Given the description of an element on the screen output the (x, y) to click on. 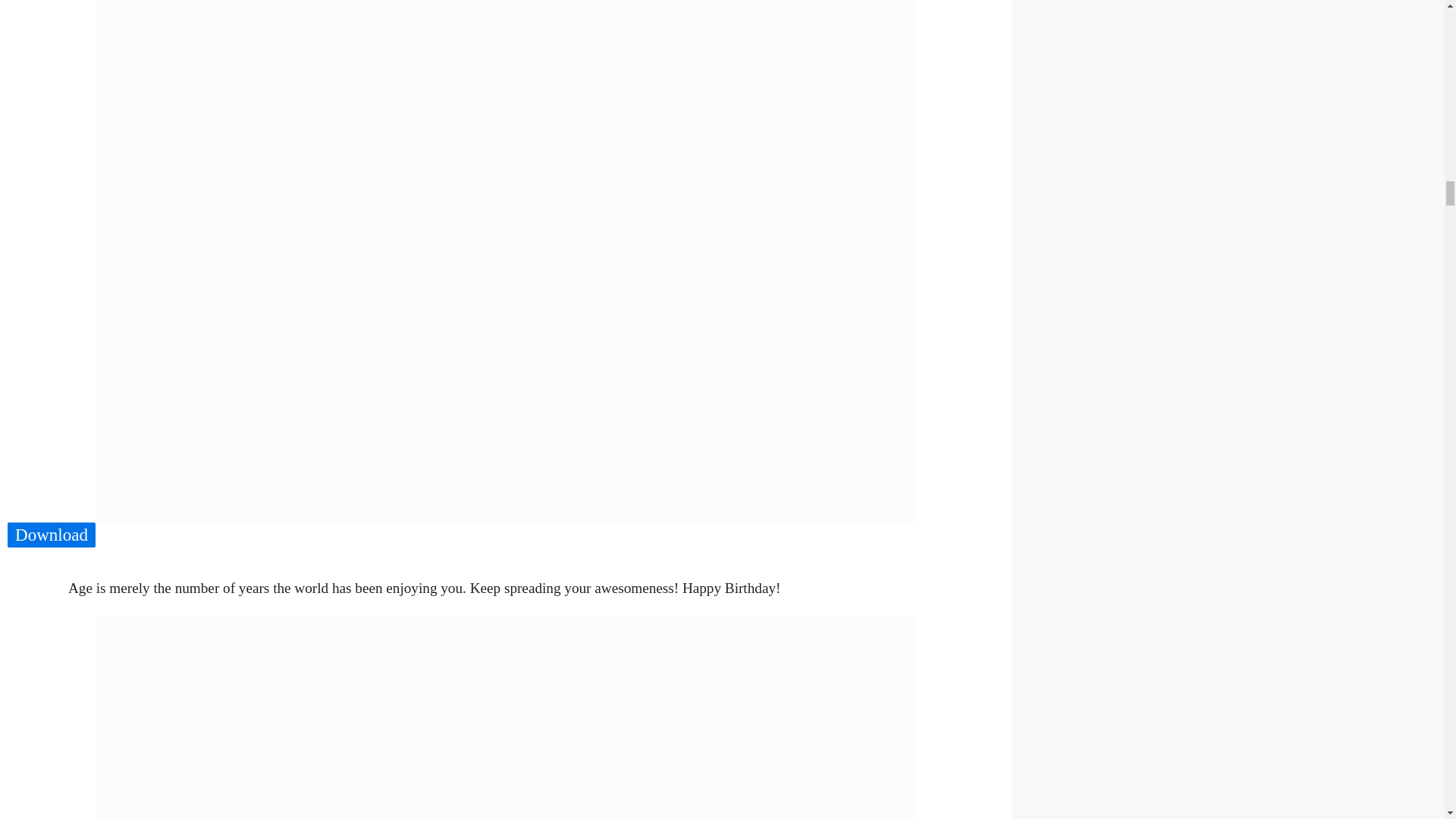
Download (51, 534)
Download (51, 535)
